Given the description of an element on the screen output the (x, y) to click on. 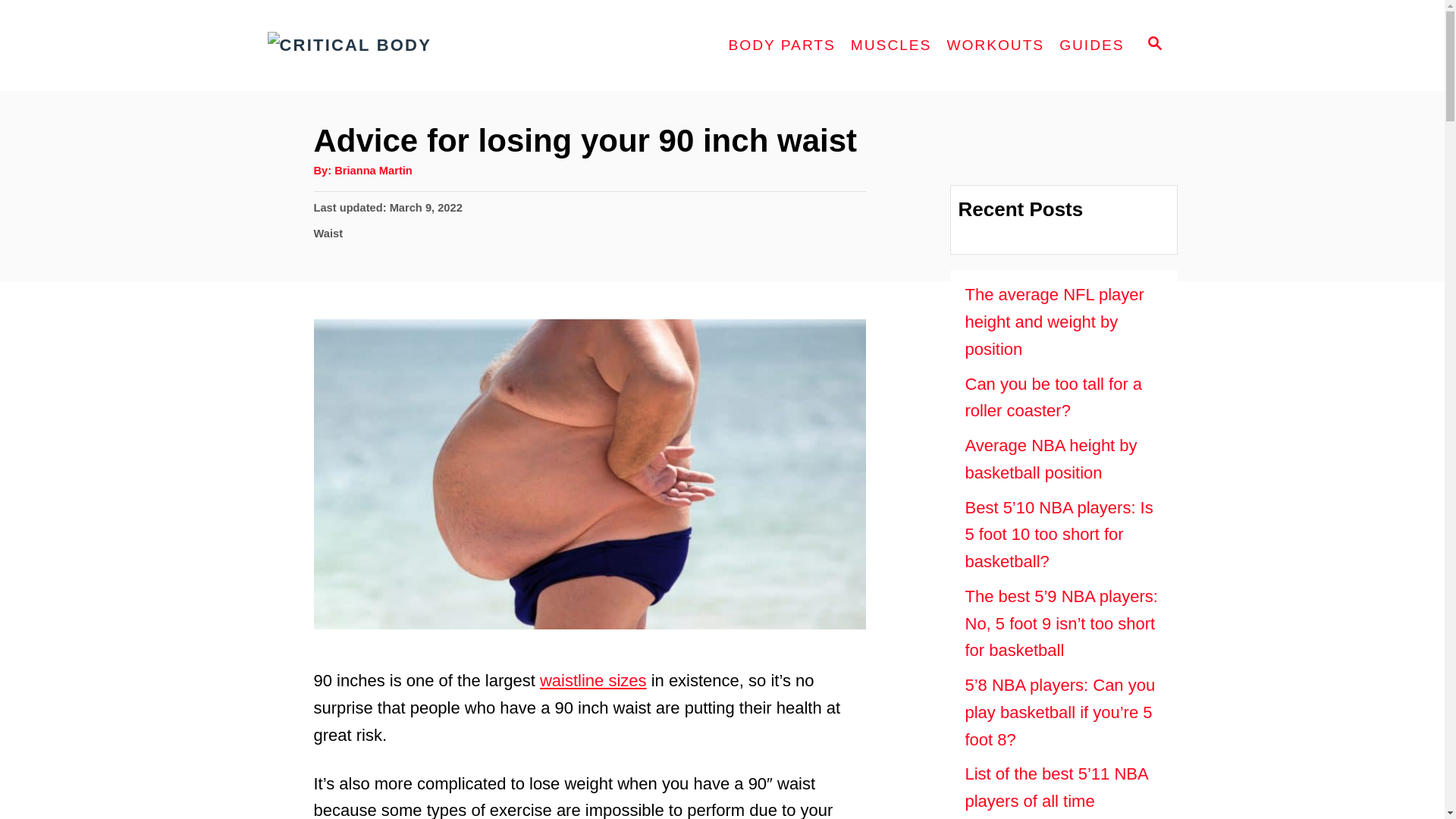
BODY PARTS (781, 45)
Critical Body (403, 45)
MUSCLES (891, 45)
SEARCH (1153, 45)
